Given the description of an element on the screen output the (x, y) to click on. 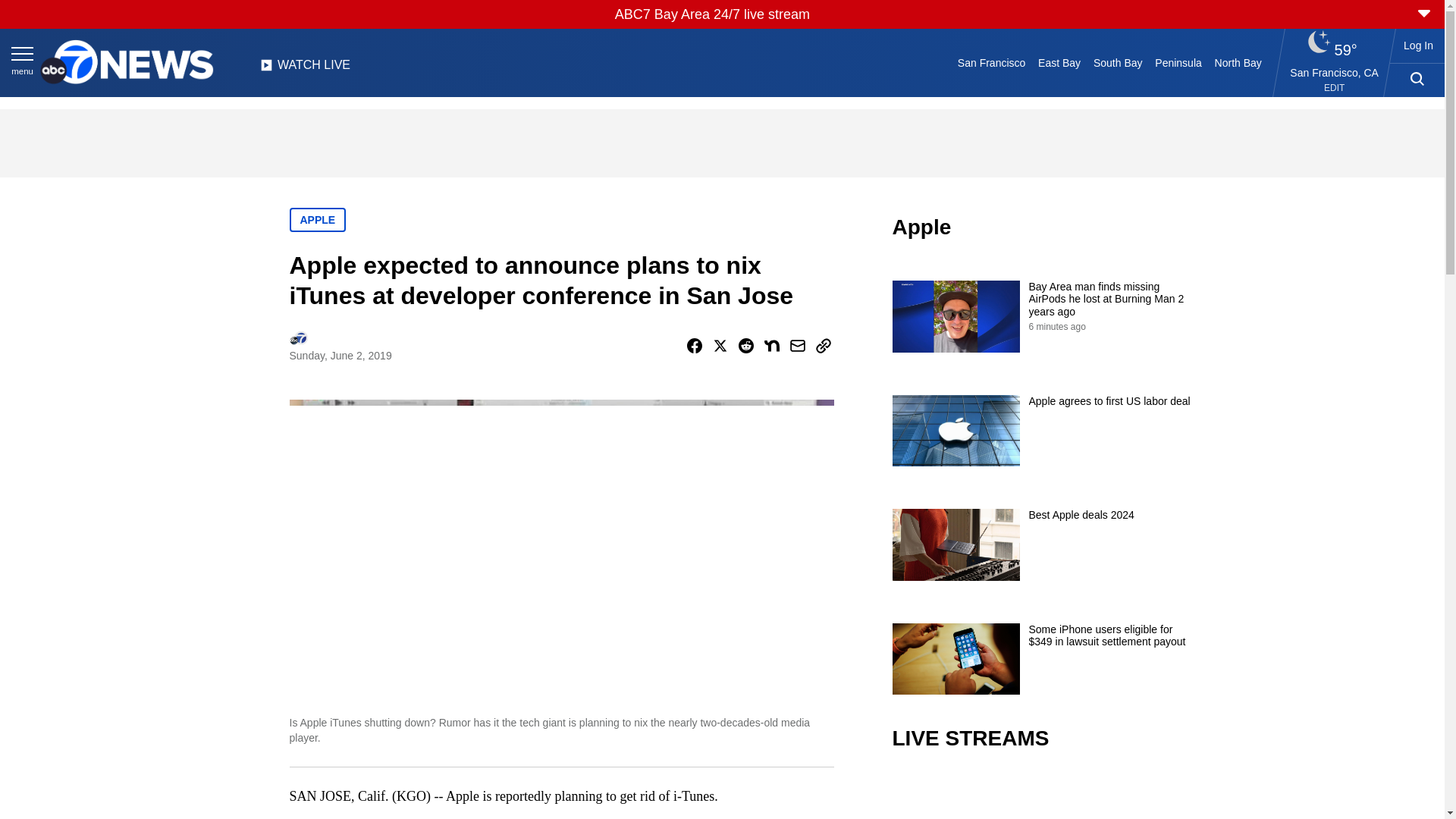
East Bay (1059, 62)
EDIT (1333, 87)
Peninsula (1178, 62)
North Bay (1238, 62)
WATCH LIVE (305, 69)
San Francisco, CA (1334, 72)
South Bay (1117, 62)
video.title (1043, 796)
San Francisco (990, 62)
